Given the description of an element on the screen output the (x, y) to click on. 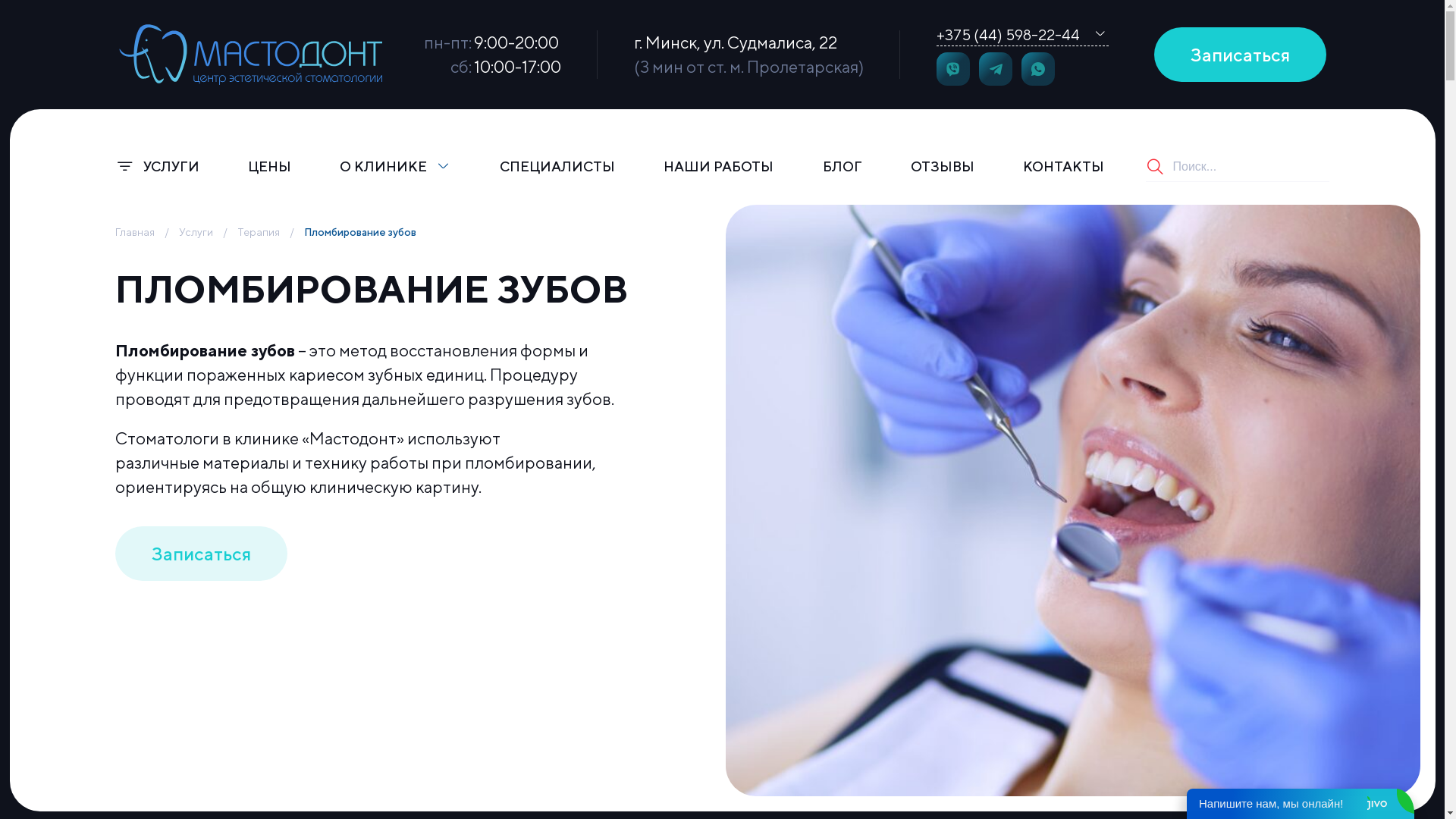
+375 (44) 598-22-44 Element type: text (1007, 34)
